Given the description of an element on the screen output the (x, y) to click on. 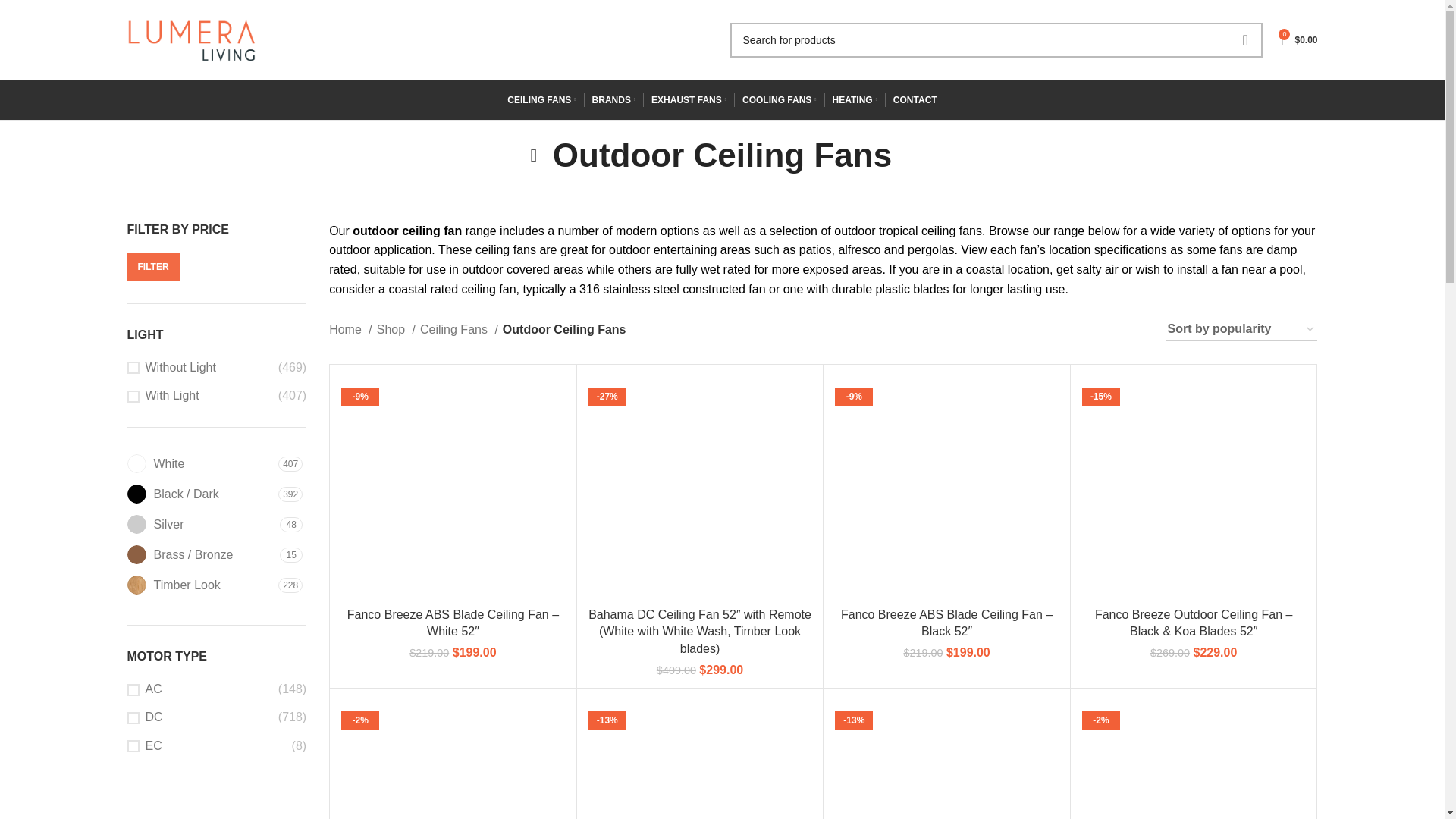
Search for products (995, 39)
CEILING FANS (540, 100)
Shopping cart (1296, 39)
SEARCH (1244, 39)
